Given the description of an element on the screen output the (x, y) to click on. 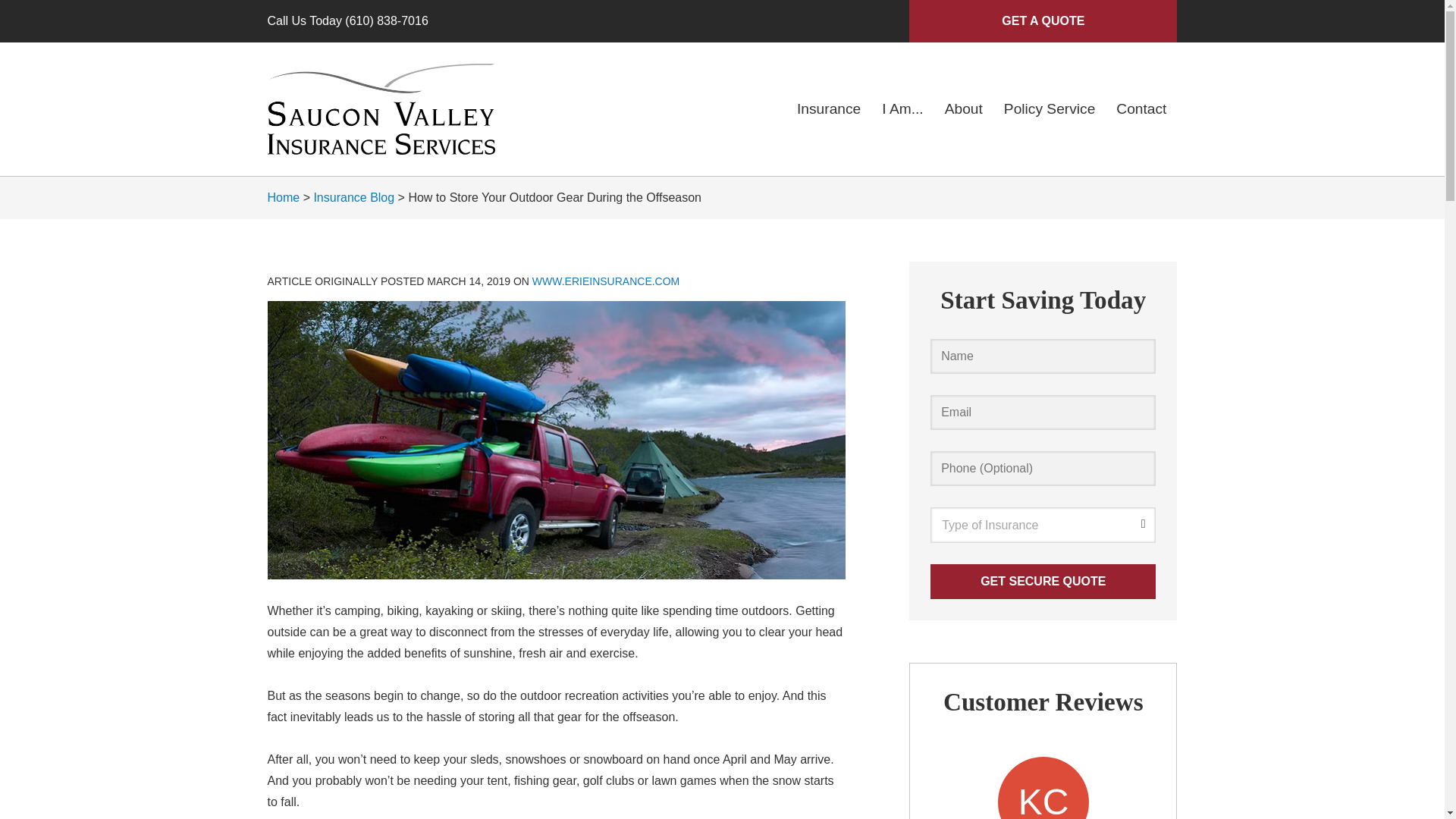
Get Secure Quote (1043, 581)
About (963, 108)
Insurance (828, 108)
GET A QUOTE (1042, 21)
logo-large (380, 108)
I Am... (901, 108)
